Given the description of an element on the screen output the (x, y) to click on. 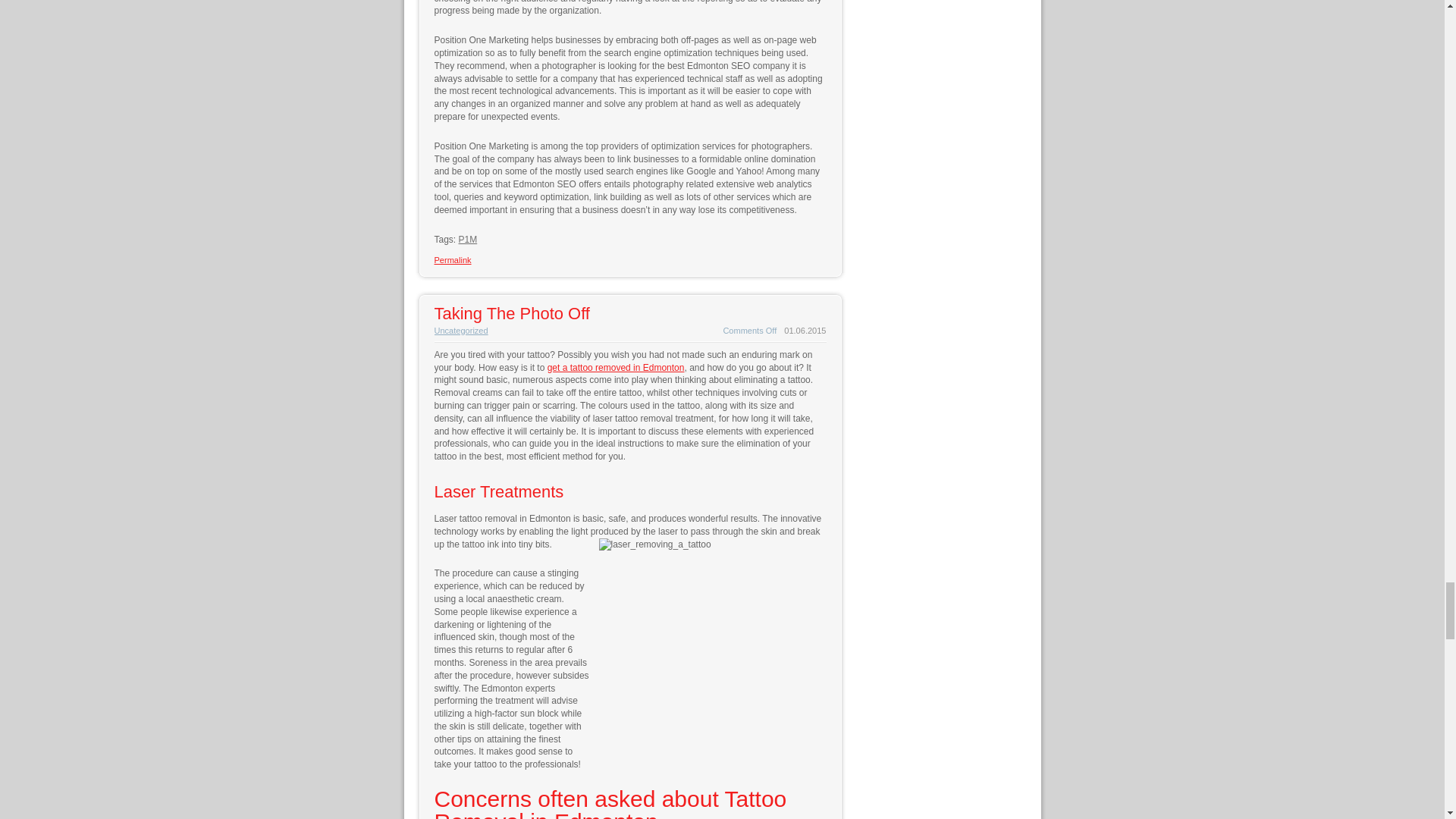
Laser Tattoo Removal Edmonton (615, 367)
P1M (467, 239)
Uncategorized (460, 329)
Permalink to: Taking The Photo Off (511, 312)
Permalink (451, 259)
Taking The Photo Off (511, 312)
